Given the description of an element on the screen output the (x, y) to click on. 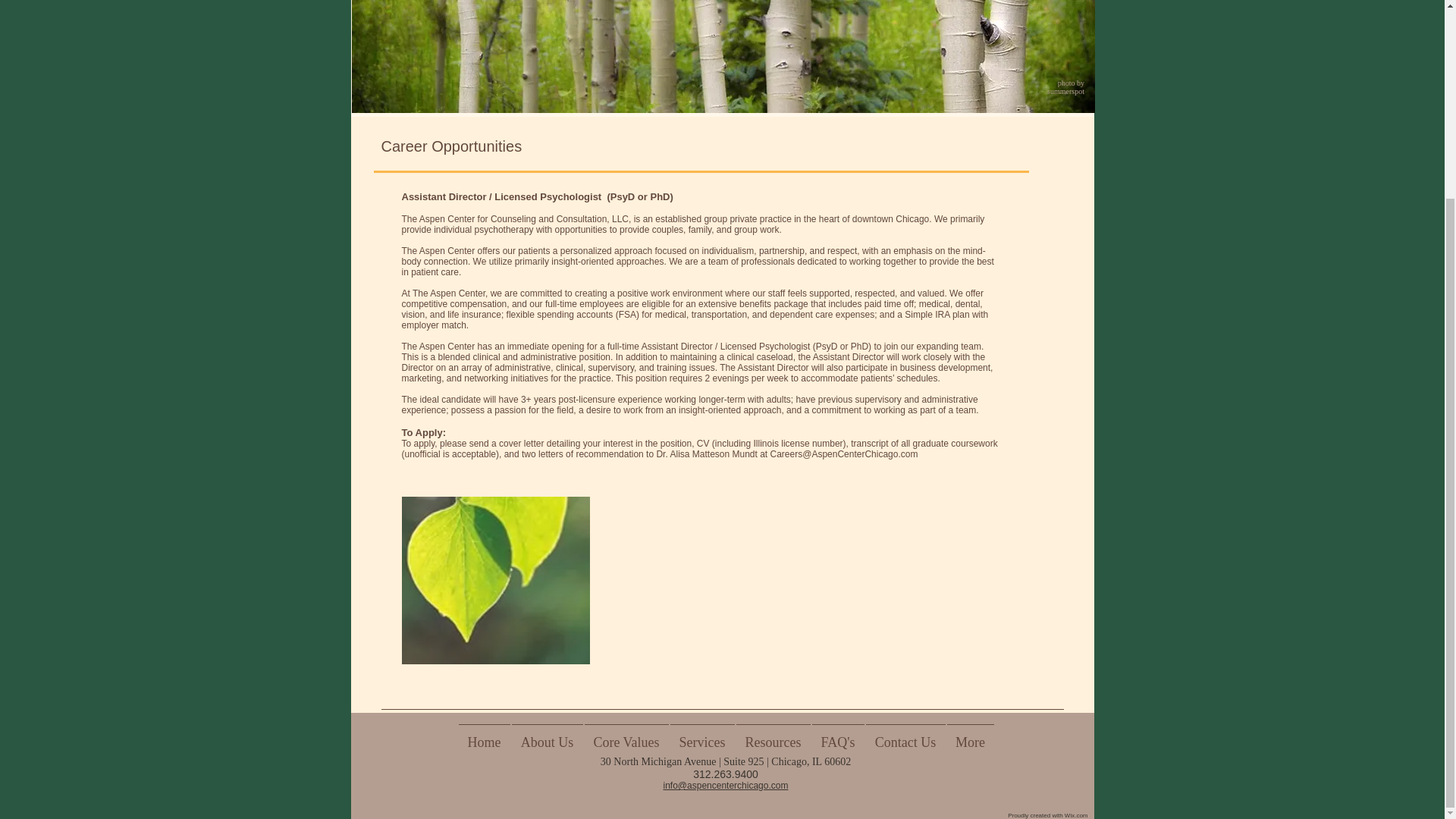
Services (701, 734)
Resources (772, 734)
summerspot  (1066, 90)
About Us (547, 734)
photo by  (1072, 82)
Core Values (626, 734)
FAQ's (837, 734)
Contact Us (904, 734)
Home (484, 734)
